Given the description of an element on the screen output the (x, y) to click on. 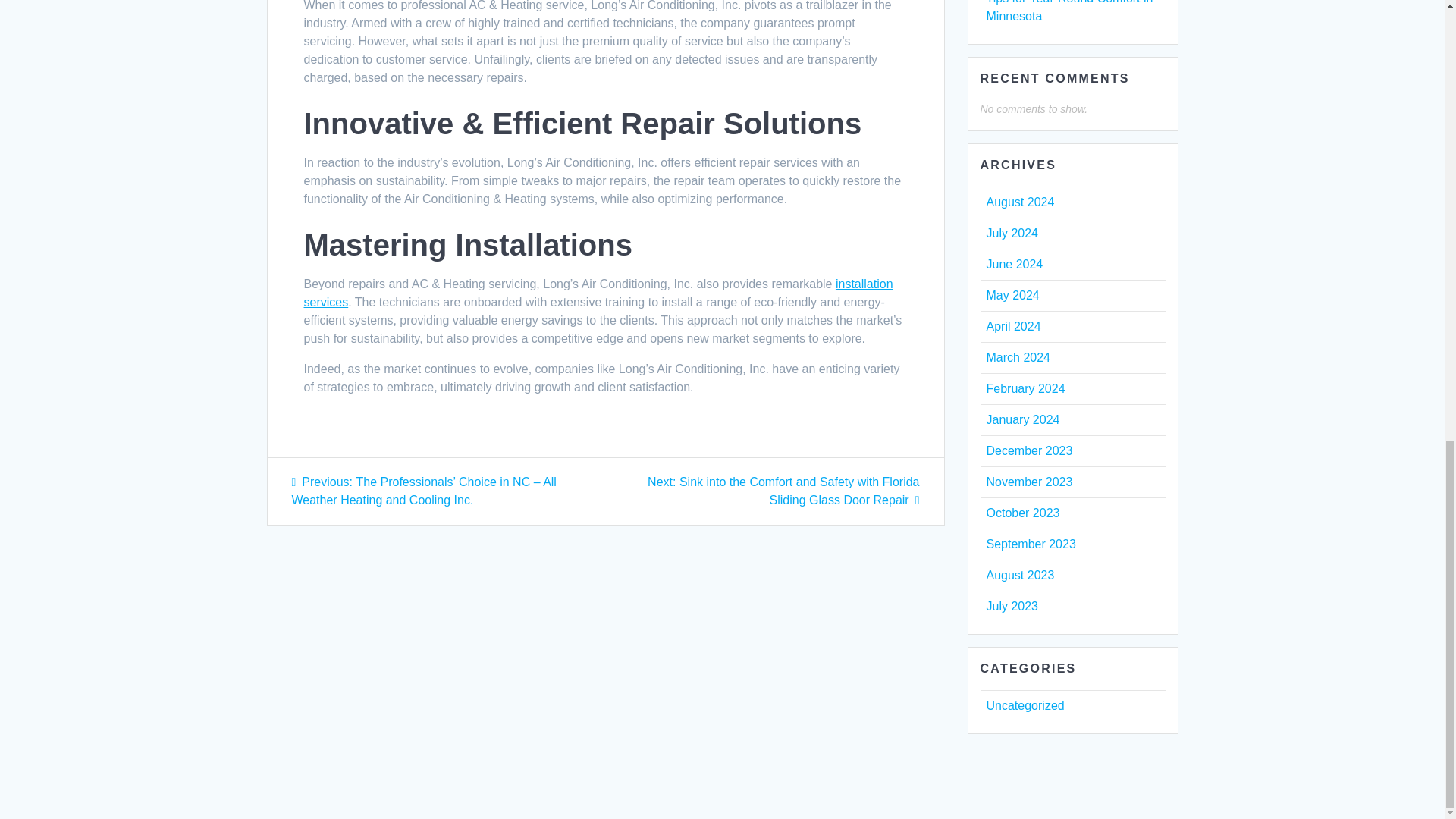
August 2023 (1019, 574)
July 2023 (1011, 605)
August 2024 (1019, 201)
October 2023 (1022, 512)
Uncategorized (1024, 705)
installation services (597, 292)
September 2023 (1030, 543)
November 2023 (1028, 481)
January 2024 (1022, 419)
